Given the description of an element on the screen output the (x, y) to click on. 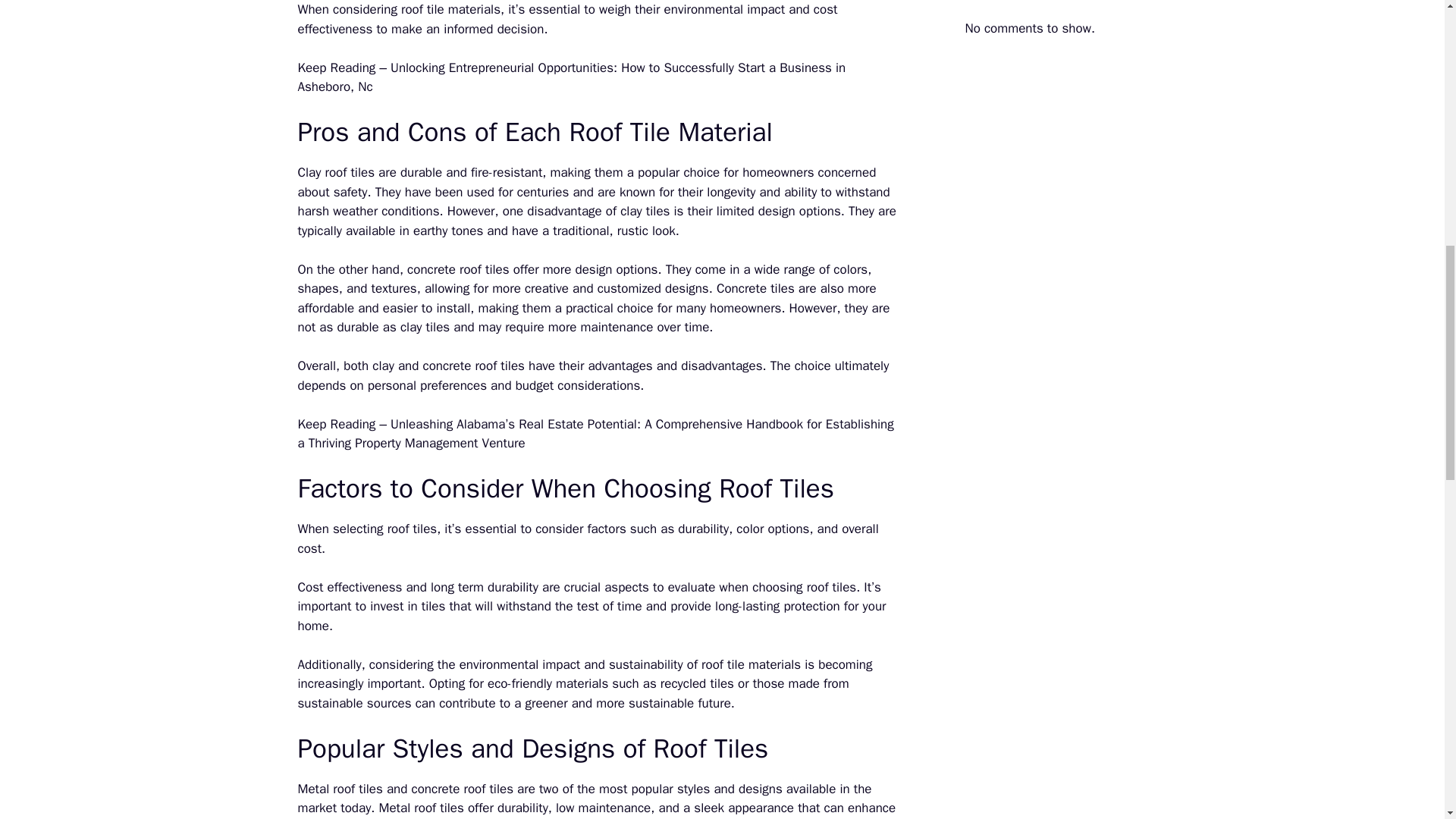
Scroll back to top (1406, 720)
